Given the description of an element on the screen output the (x, y) to click on. 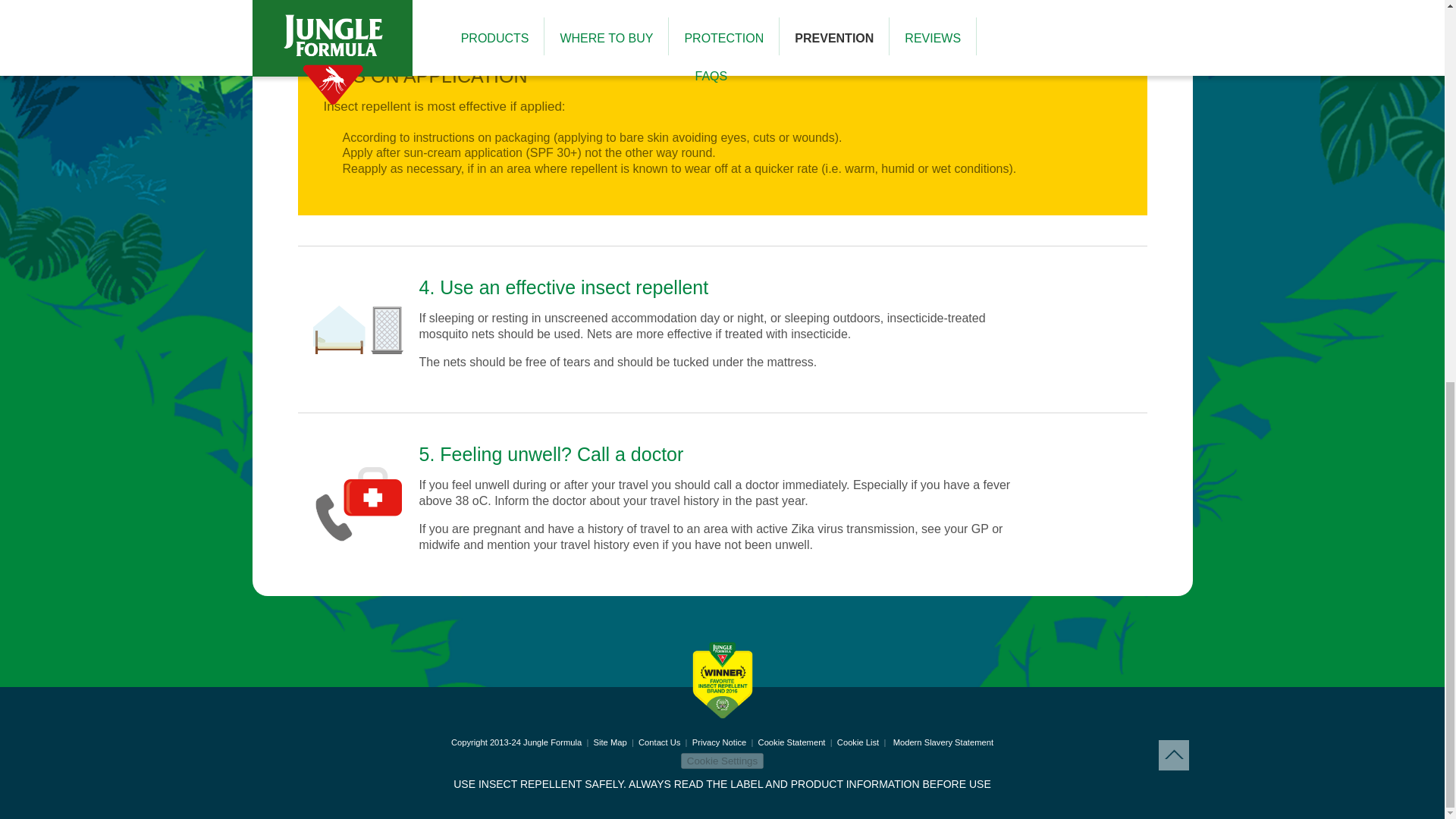
Site Map (610, 741)
Cookie Settings (721, 760)
Contact Us (659, 741)
Privacy Notice (719, 741)
Cookie Statement (791, 741)
Opens an external site in a new window (942, 741)
Modern Slavery Statement (942, 741)
Cookie List (858, 741)
